Given the description of an element on the screen output the (x, y) to click on. 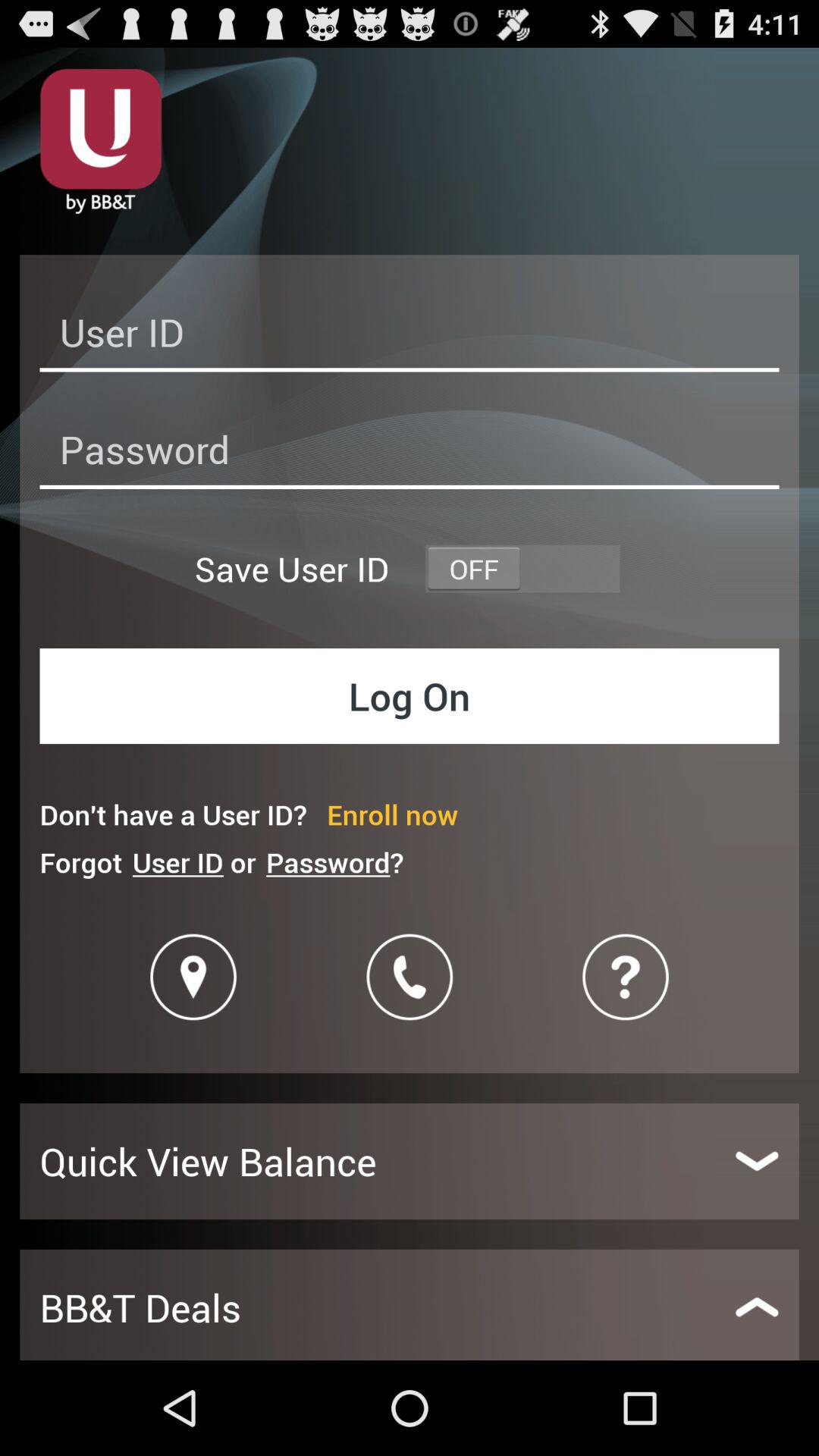
type user id (409, 336)
